Given the description of an element on the screen output the (x, y) to click on. 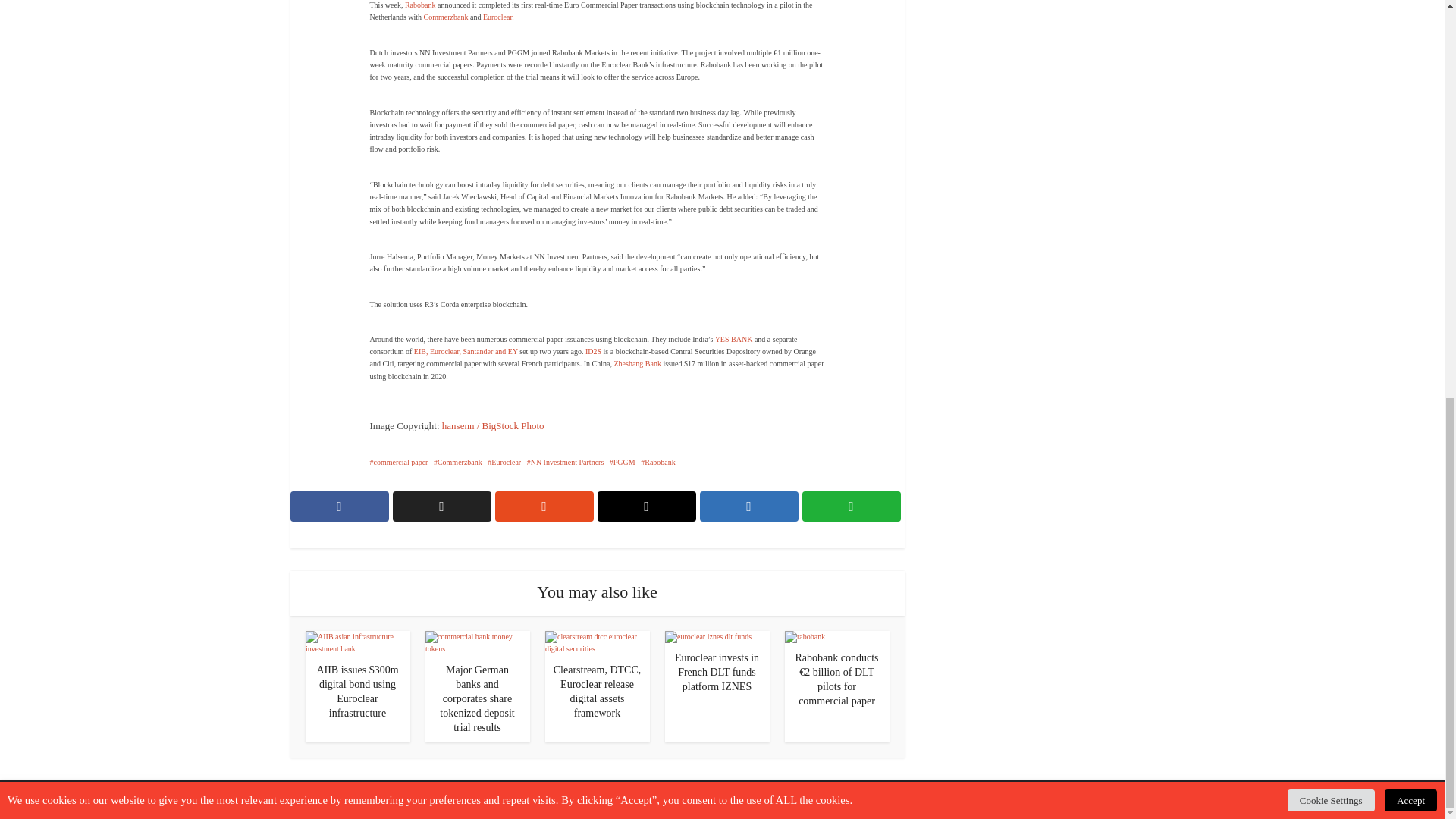
Euroclear invests in French DLT funds platform IZNES (707, 636)
Euroclear invests in French DLT funds platform IZNES (716, 671)
